Given the description of an element on the screen output the (x, y) to click on. 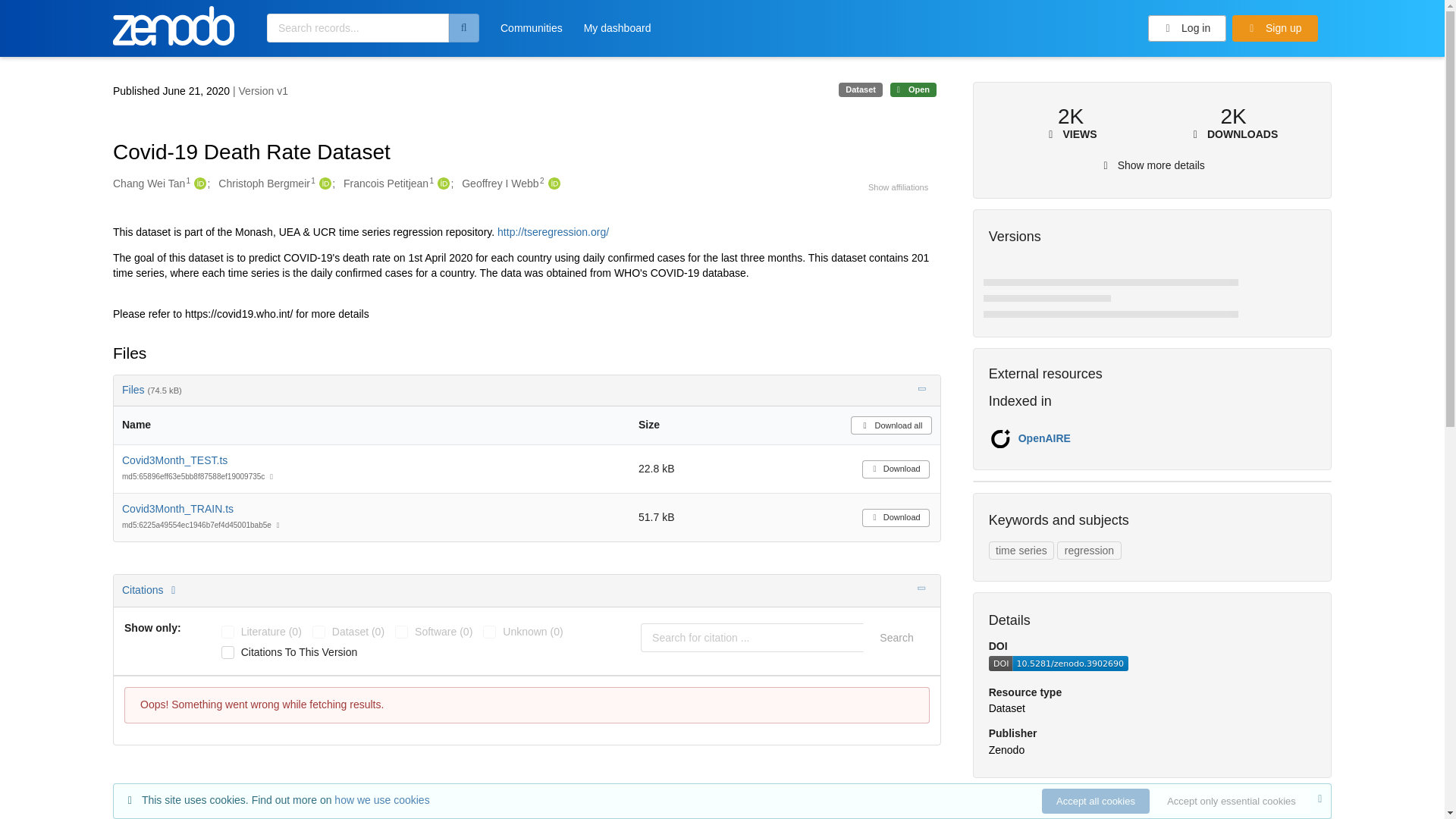
regression (1089, 550)
Geoffrey I Webb's ORCID profile (552, 183)
Chang Wei Tan's ORCID profile (198, 183)
Geoffrey I Webb2 (502, 183)
Download (895, 469)
OpenAIRE (1043, 438)
Get the DOI badge! (1058, 666)
Christoph Bergmeir's ORCID profile (323, 183)
Search (895, 637)
Francois Petitjean1 (388, 183)
Chang Wei Tan1 (151, 183)
Download all (890, 425)
Publication date (172, 91)
Download (895, 517)
Search results for regression (1089, 550)
